Given the description of an element on the screen output the (x, y) to click on. 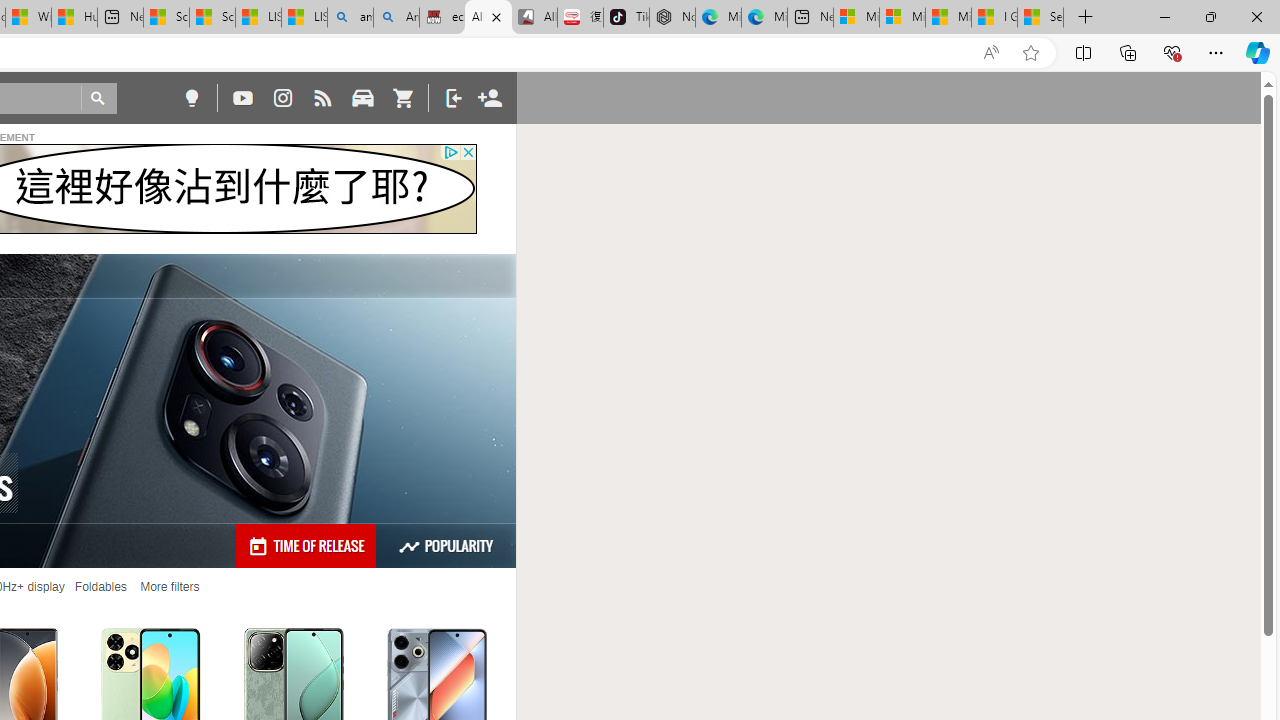
Browser essentials (1171, 52)
I Gained 20 Pounds of Muscle in 30 Days! | Watch (994, 17)
Class: privacy_out (450, 151)
Nordace - Best Sellers (672, 17)
Collections (1128, 52)
Go (98, 97)
All Cubot phones (534, 17)
Amazon Echo Dot PNG - Search Images (395, 17)
Foldables (100, 587)
Split screen (1083, 52)
Microsoft account | Privacy (902, 17)
Close tab (496, 16)
